Given the description of an element on the screen output the (x, y) to click on. 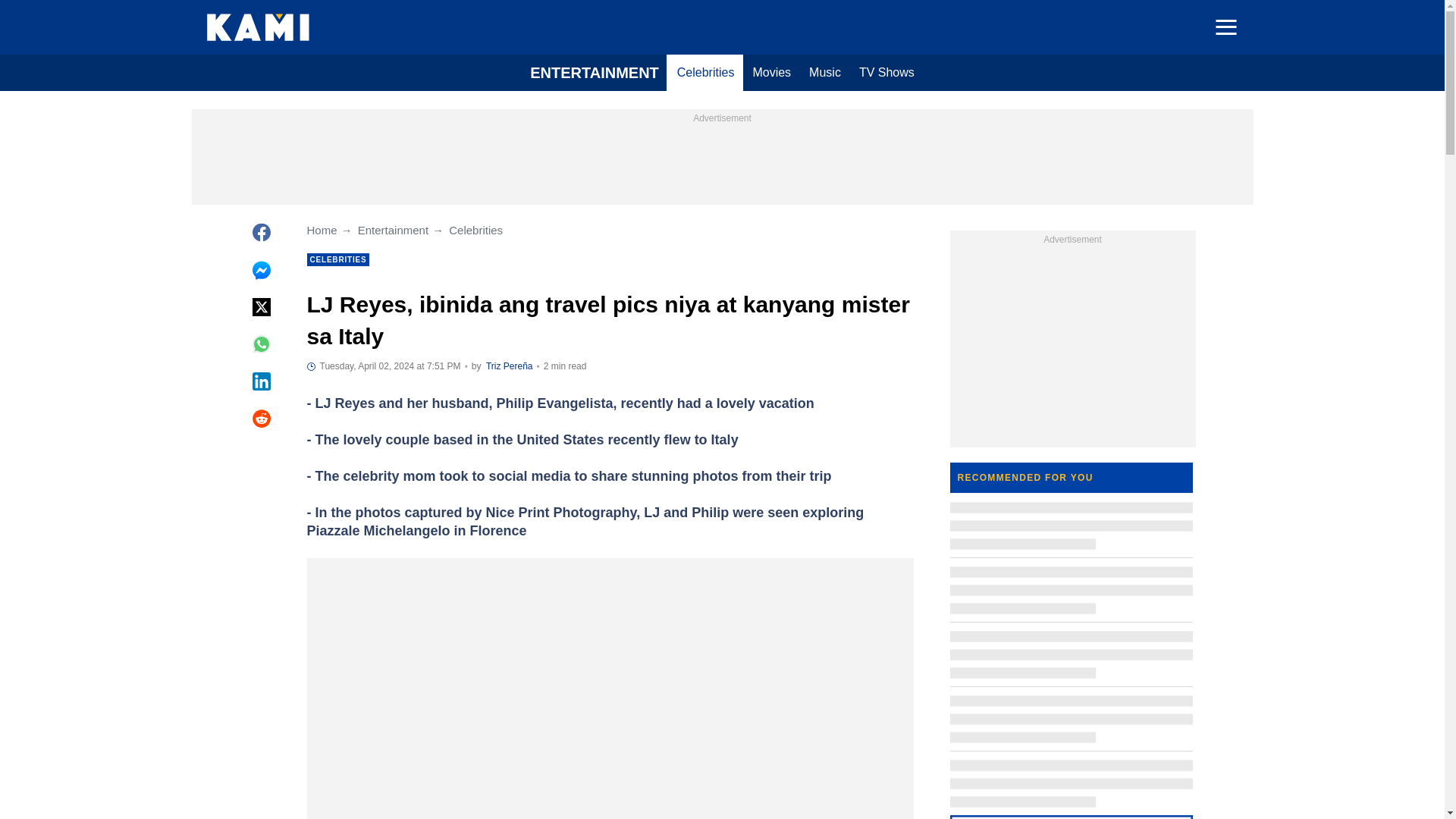
TV Shows (886, 72)
Author page (509, 366)
Celebrities (706, 72)
Music (824, 72)
Movies (770, 72)
ENTERTAINMENT (594, 72)
